Given the description of an element on the screen output the (x, y) to click on. 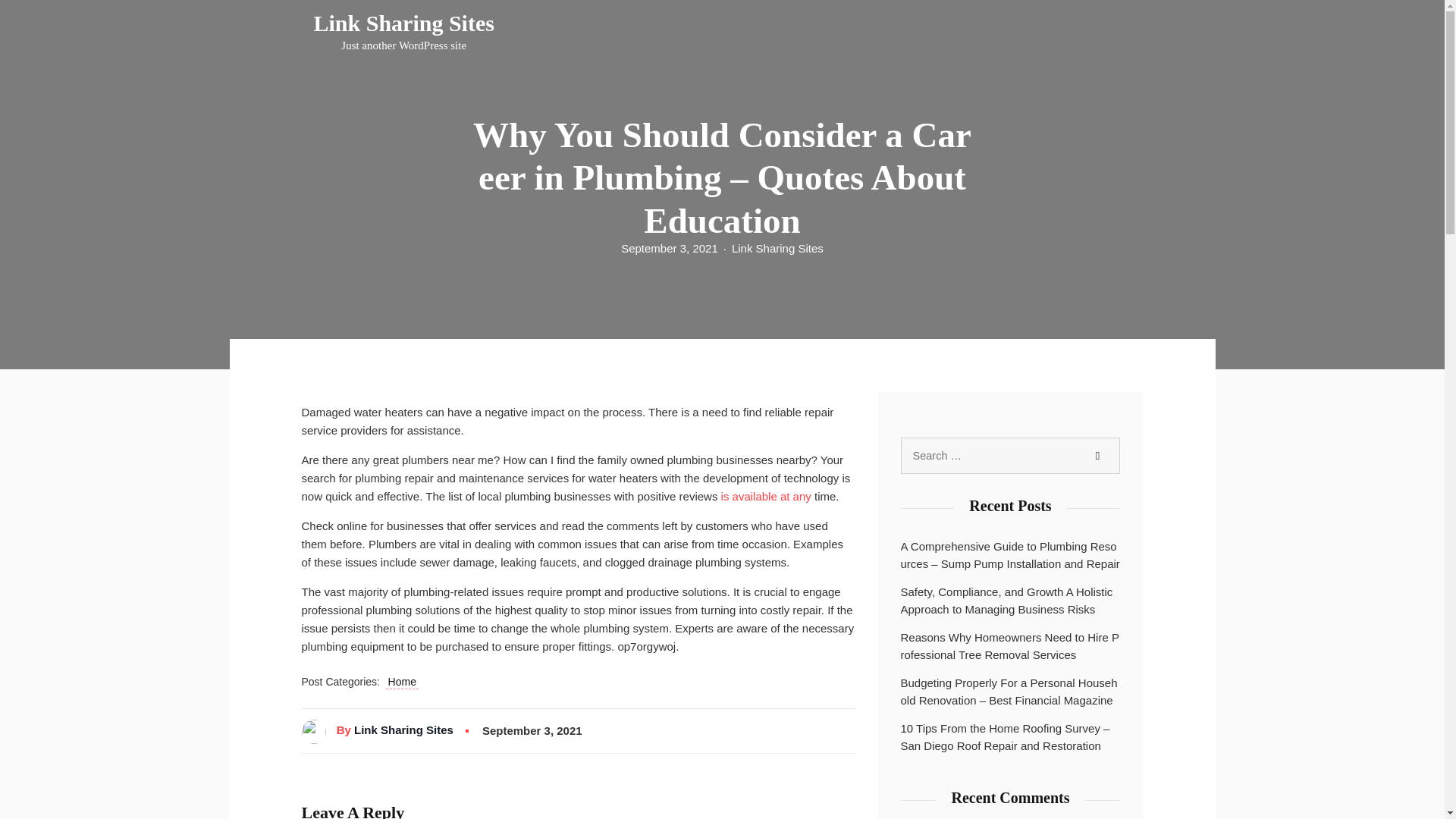
Home (402, 682)
September 3, 2021 (404, 31)
Link Sharing Sites (669, 248)
Link Sharing Sites (778, 248)
Search (402, 730)
is available at any (1096, 455)
